Given the description of an element on the screen output the (x, y) to click on. 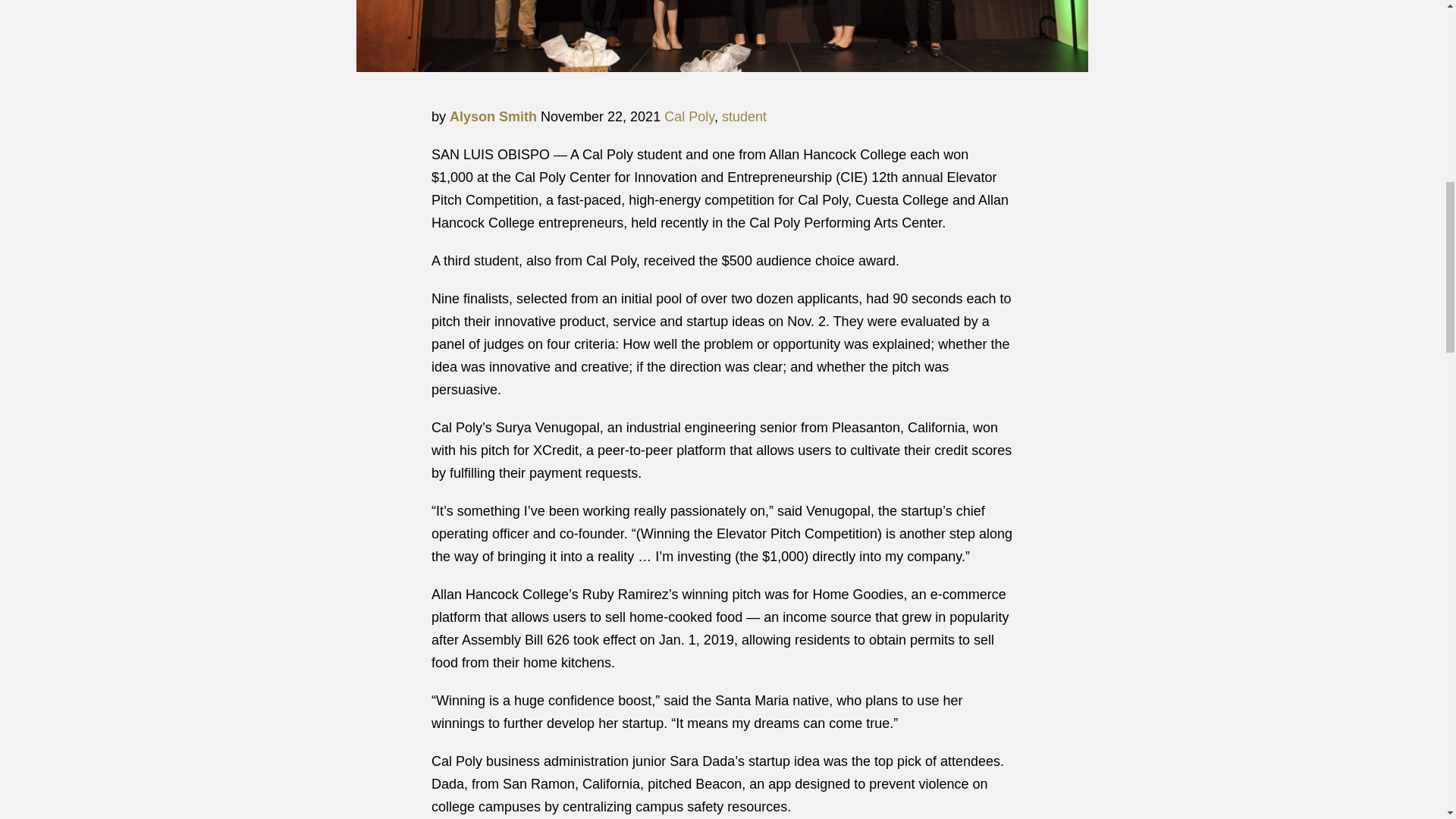
Cal Poly (688, 116)
student (744, 116)
Alyson Smith (493, 116)
